Given the description of an element on the screen output the (x, y) to click on. 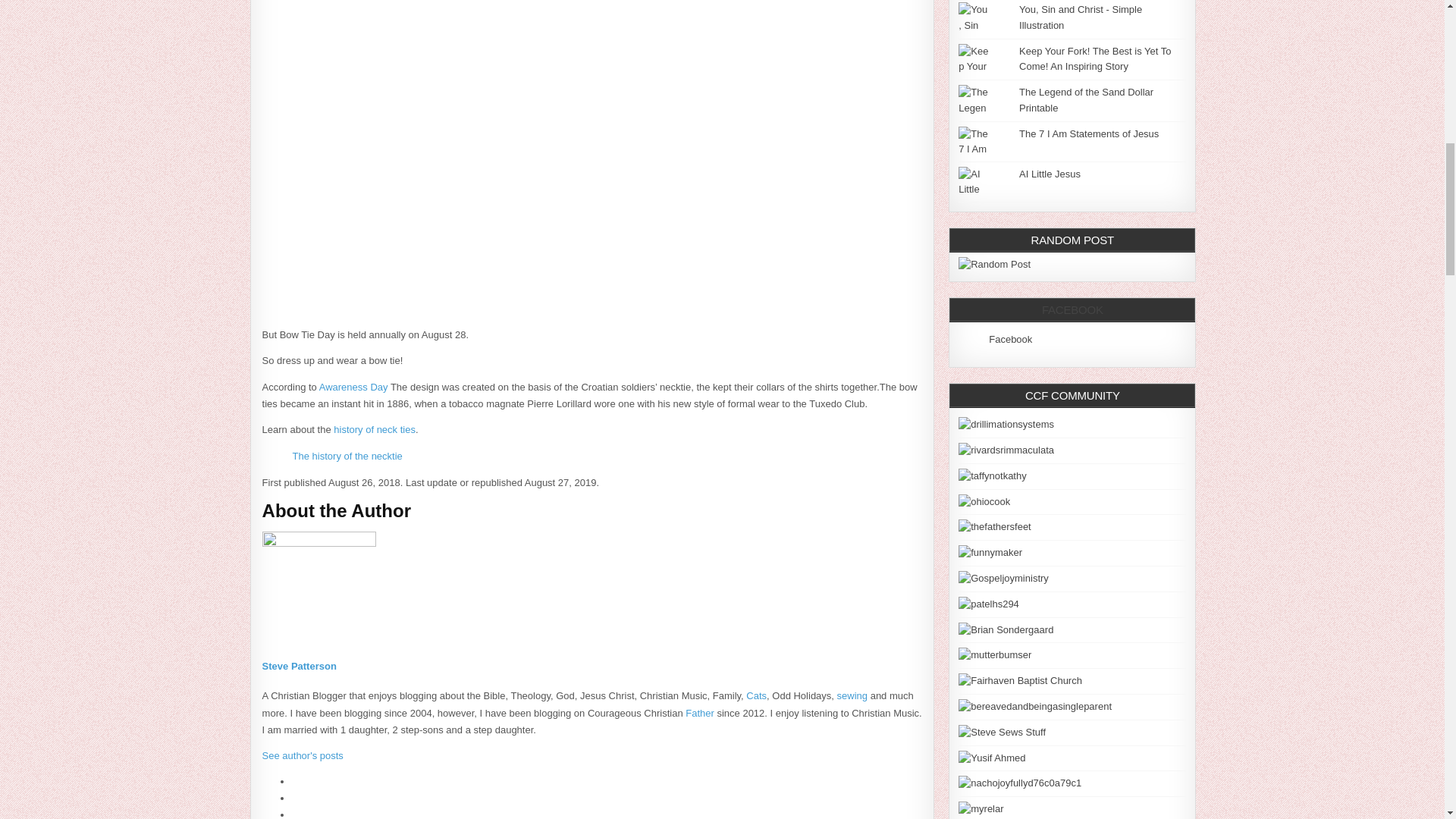
Awareness Day (353, 387)
The history of the necktie (347, 455)
Sewing (852, 695)
Cats (756, 695)
history of neck ties (373, 429)
Cats (756, 695)
See author's posts (302, 755)
Father (699, 713)
Steve Patterson (299, 665)
sewing (852, 695)
